Given the description of an element on the screen output the (x, y) to click on. 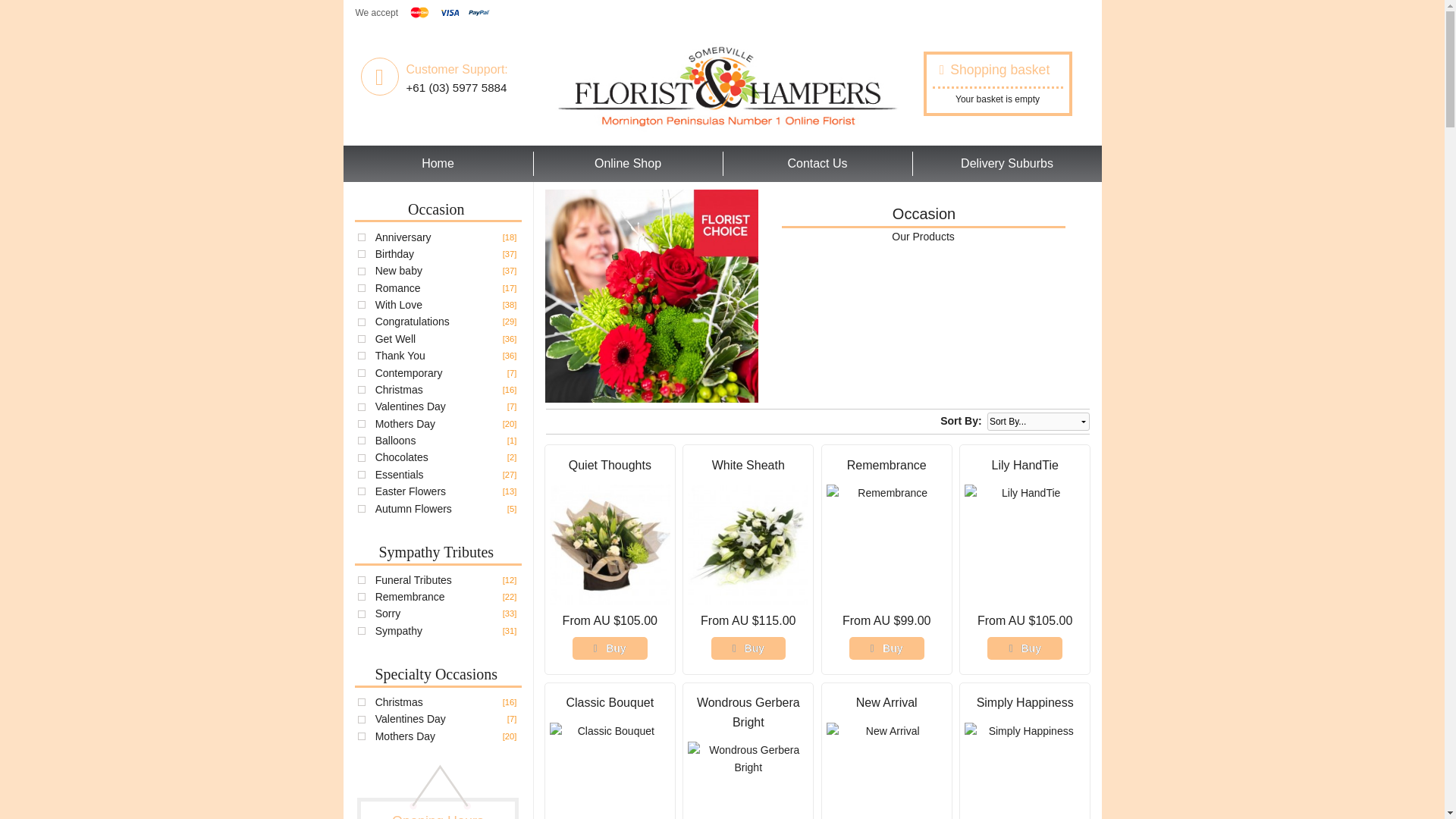
Christmas
[16] Element type: text (399, 389)
New baby
[37] Element type: text (398, 270)
Shopping basket Element type: text (997, 70)
Contemporary
[7] Element type: text (408, 373)
Delivery Suburbs Element type: text (1007, 163)
Sympathy
[31] Element type: text (398, 630)
Anniversary
[18] Element type: text (403, 237)
Online Shop Element type: text (627, 163)
Contact Us Element type: text (817, 163)
Mothers Day
[20] Element type: text (405, 736)
Mothers Day
[20] Element type: text (405, 423)
Autumn Flowers
[5] Element type: text (413, 508)
Home Element type: text (437, 163)
Birthday
[37] Element type: text (394, 253)
Congratulations
[29] Element type: text (412, 321)
  Buy Element type: text (1024, 648)
Romance
[17] Element type: text (397, 288)
Valentines Day
[7] Element type: text (410, 406)
Christmas
[16] Element type: text (399, 702)
Chocolates
[2] Element type: text (401, 457)
Balloons
[1] Element type: text (395, 440)
Funeral Tributes
[12] Element type: text (413, 580)
Get Well
[36] Element type: text (395, 338)
Remembrance
[22] Element type: text (410, 596)
  Buy Element type: text (886, 648)
  Buy Element type: text (609, 648)
With Love
[38] Element type: text (398, 304)
Easter Flowers
[13] Element type: text (410, 491)
  Buy Element type: text (748, 648)
Essentials
[27] Element type: text (399, 474)
Valentines Day
[7] Element type: text (410, 718)
Sorry
[33] Element type: text (387, 613)
Thank You
[36] Element type: text (400, 355)
